Given the description of an element on the screen output the (x, y) to click on. 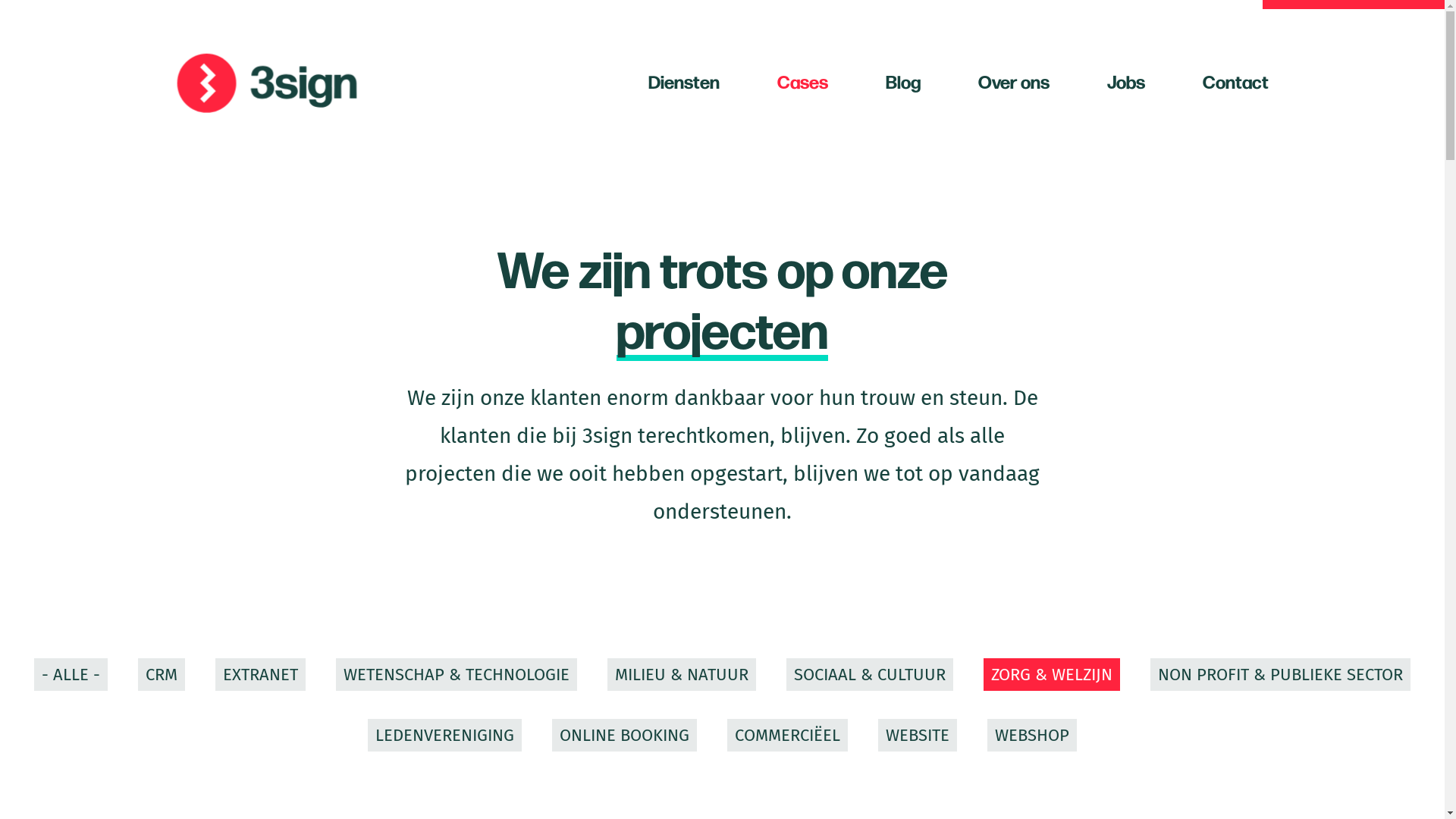
LEDENVERENIGING Element type: text (444, 734)
EXTRANET Element type: text (260, 674)
Cases Element type: text (801, 83)
NON PROFIT & PUBLIEKE SECTOR Element type: text (1280, 674)
WEBSITE Element type: text (917, 734)
- ALLE - Element type: text (70, 674)
MILIEU & NATUUR Element type: text (681, 674)
Over ons Element type: text (1013, 83)
Overslaan en naar de inhoud gaan Element type: text (0, 0)
Jobs Element type: text (1126, 83)
WETENSCHAP & TECHNOLOGIE Element type: text (456, 674)
Contact Element type: text (1235, 83)
ONLINE BOOKING Element type: text (624, 734)
CRM Element type: text (161, 674)
Diensten Element type: text (682, 83)
SOCIAAL & CULTUUR Element type: text (869, 674)
WEBSHOP Element type: text (1031, 734)
Blog Element type: text (902, 83)
ZORG & WELZIJN Element type: text (1051, 674)
